Given the description of an element on the screen output the (x, y) to click on. 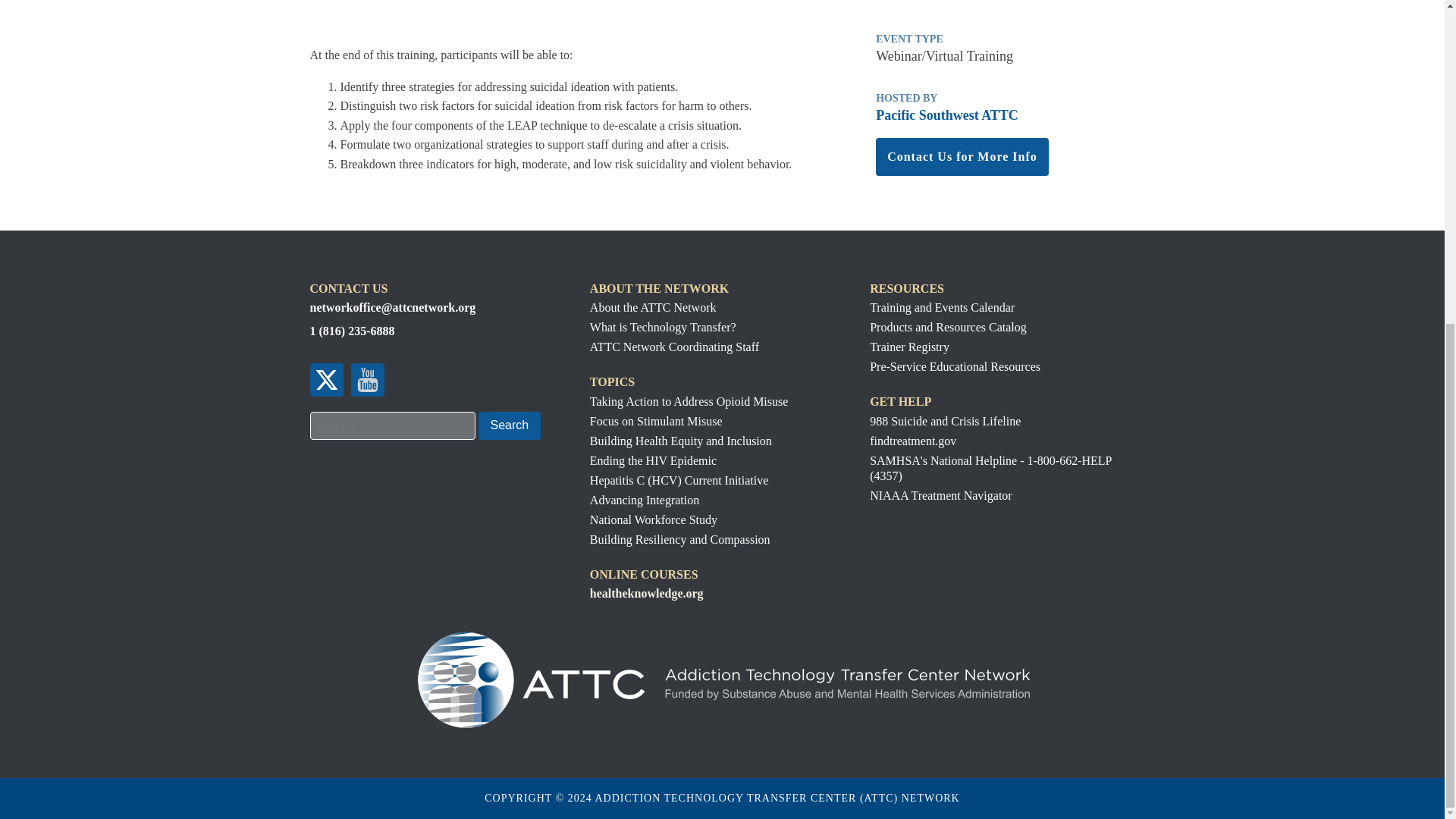
Search (508, 424)
Search (508, 424)
